Given the description of an element on the screen output the (x, y) to click on. 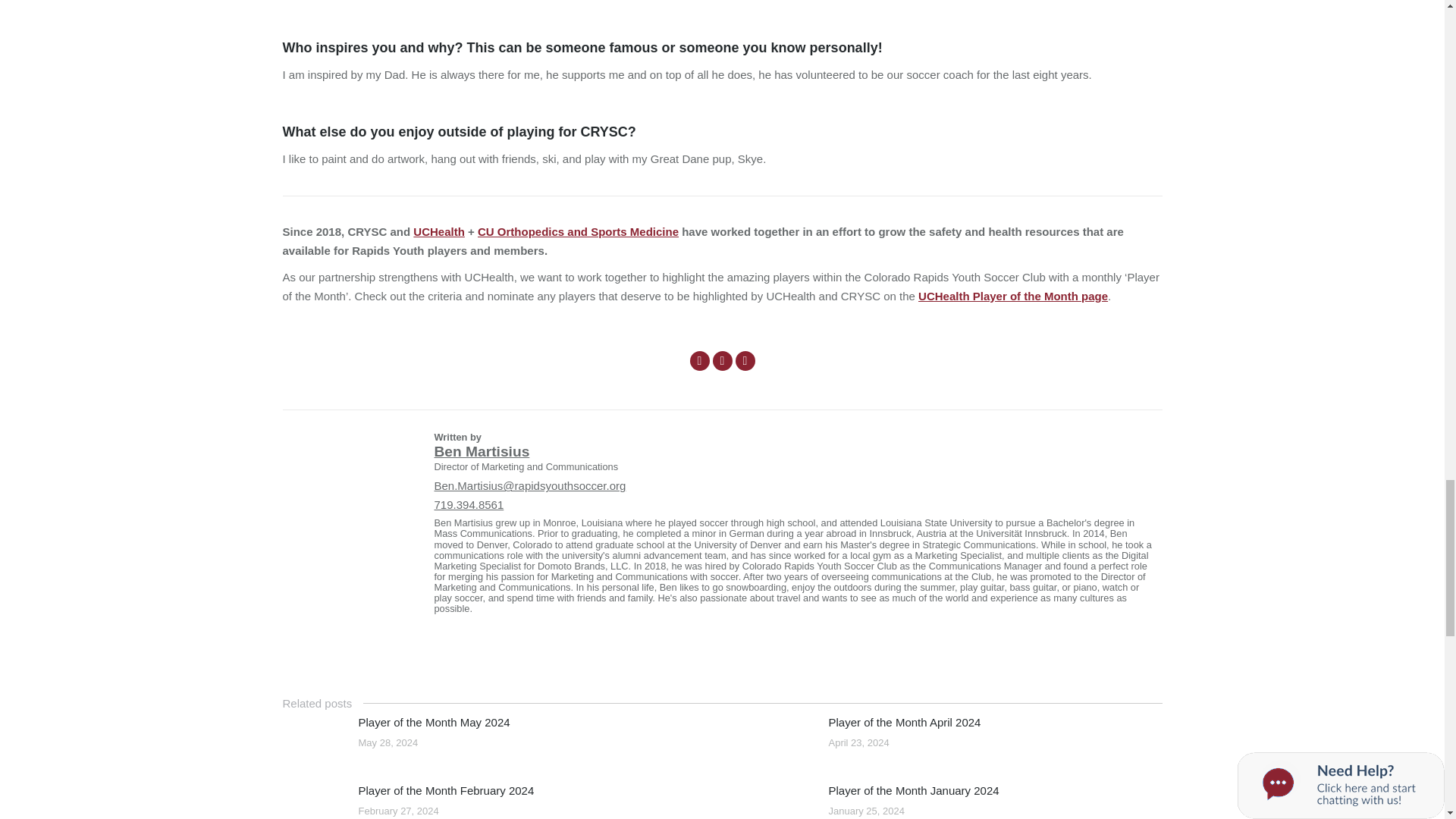
Spyridon-SQ (782, 739)
Facebook (700, 361)
Edin-1 (312, 739)
Kailyn-Ertler---07G-NPL (312, 801)
Instagram (745, 361)
Izzie-Harrison (782, 801)
X (722, 361)
